Given the description of an element on the screen output the (x, y) to click on. 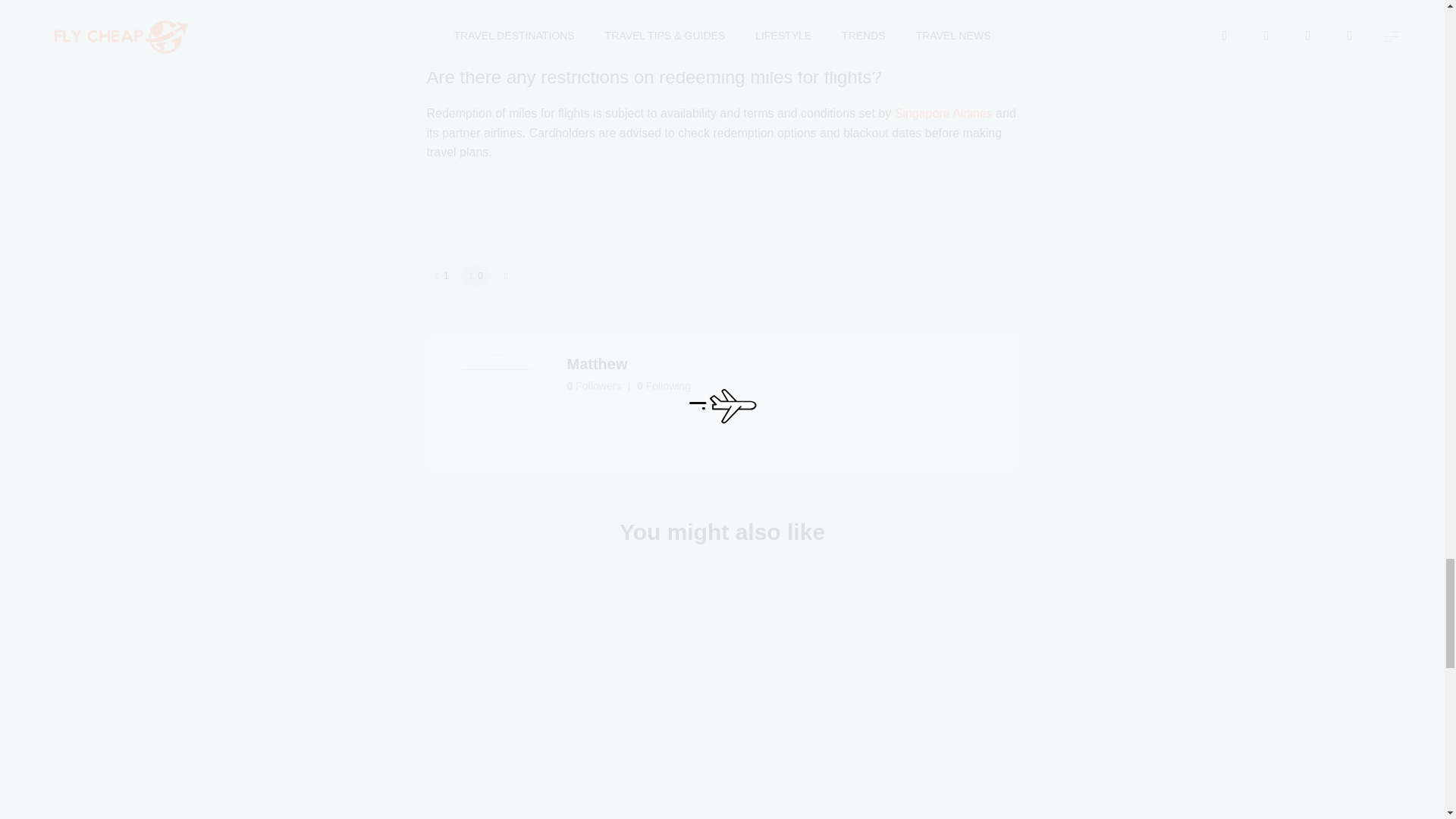
Like this (475, 275)
Send this to friends or share it on social media. (505, 275)
Follow (532, 431)
Singapore Airlines (943, 113)
1 view (440, 275)
